Given the description of an element on the screen output the (x, y) to click on. 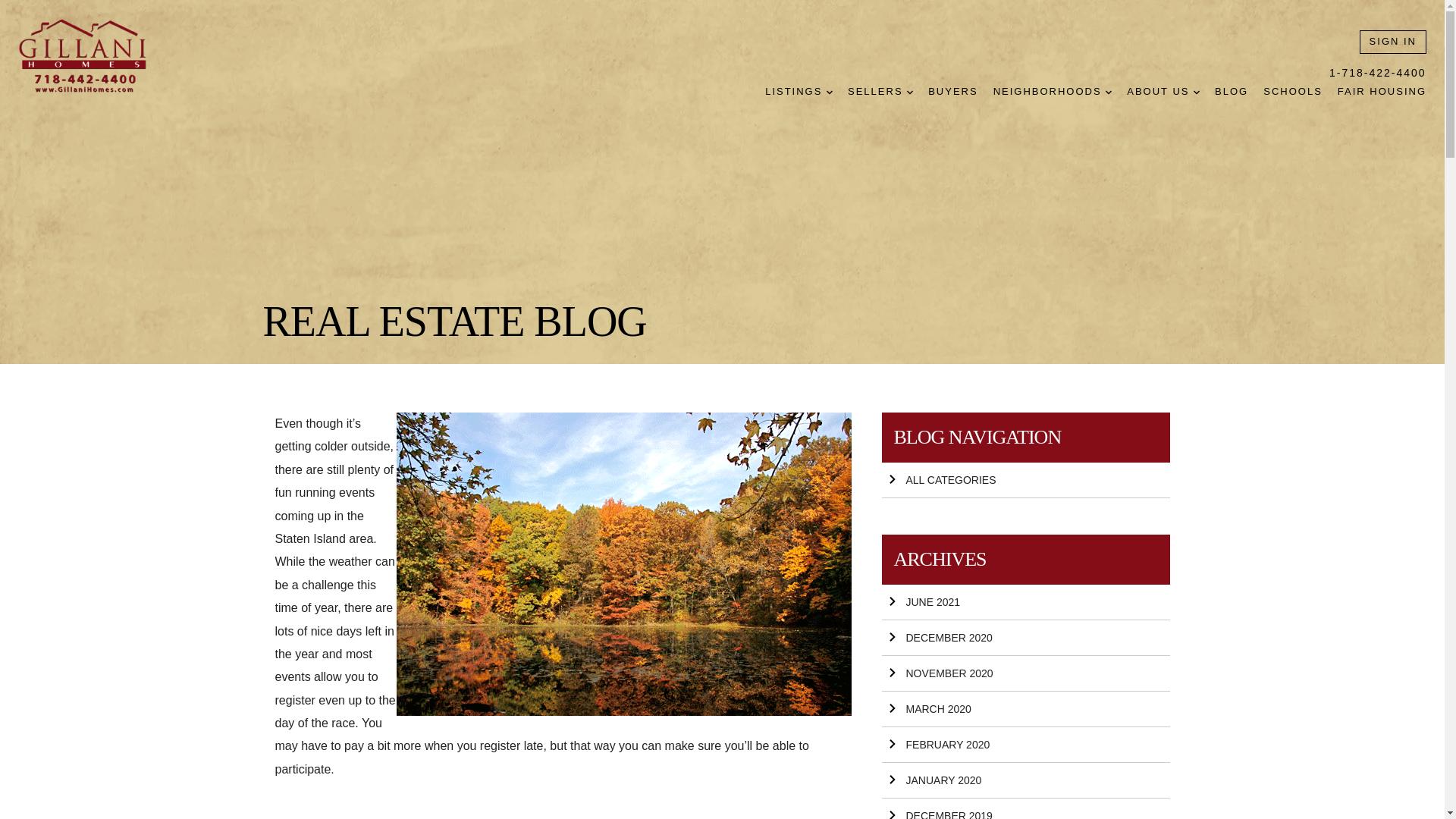
BUYERS (952, 91)
SIGN IN (1392, 42)
BLOG (1230, 91)
NEIGHBORHOODS DROPDOWN ARROW (1052, 91)
1-718-422-4400 (1377, 72)
DROPDOWN ARROW (909, 92)
ABOUT US DROPDOWN ARROW (1162, 91)
DROPDOWN ARROW (1108, 92)
DROPDOWN ARROW (1196, 92)
SELLERS DROPDOWN ARROW (879, 91)
